Given the description of an element on the screen output the (x, y) to click on. 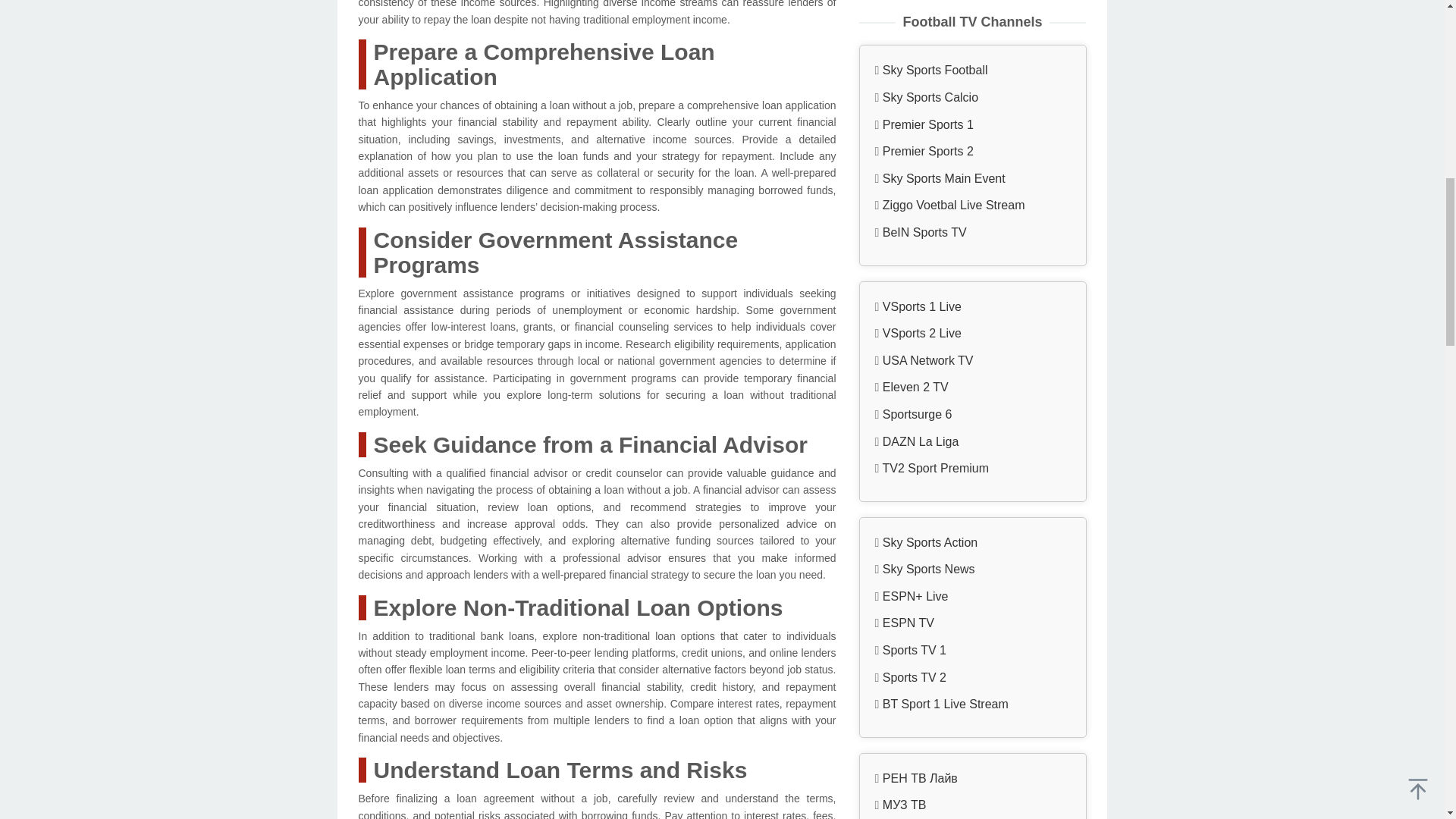
PayPal Donate (972, 460)
15.00 (972, 418)
